Given the description of an element on the screen output the (x, y) to click on. 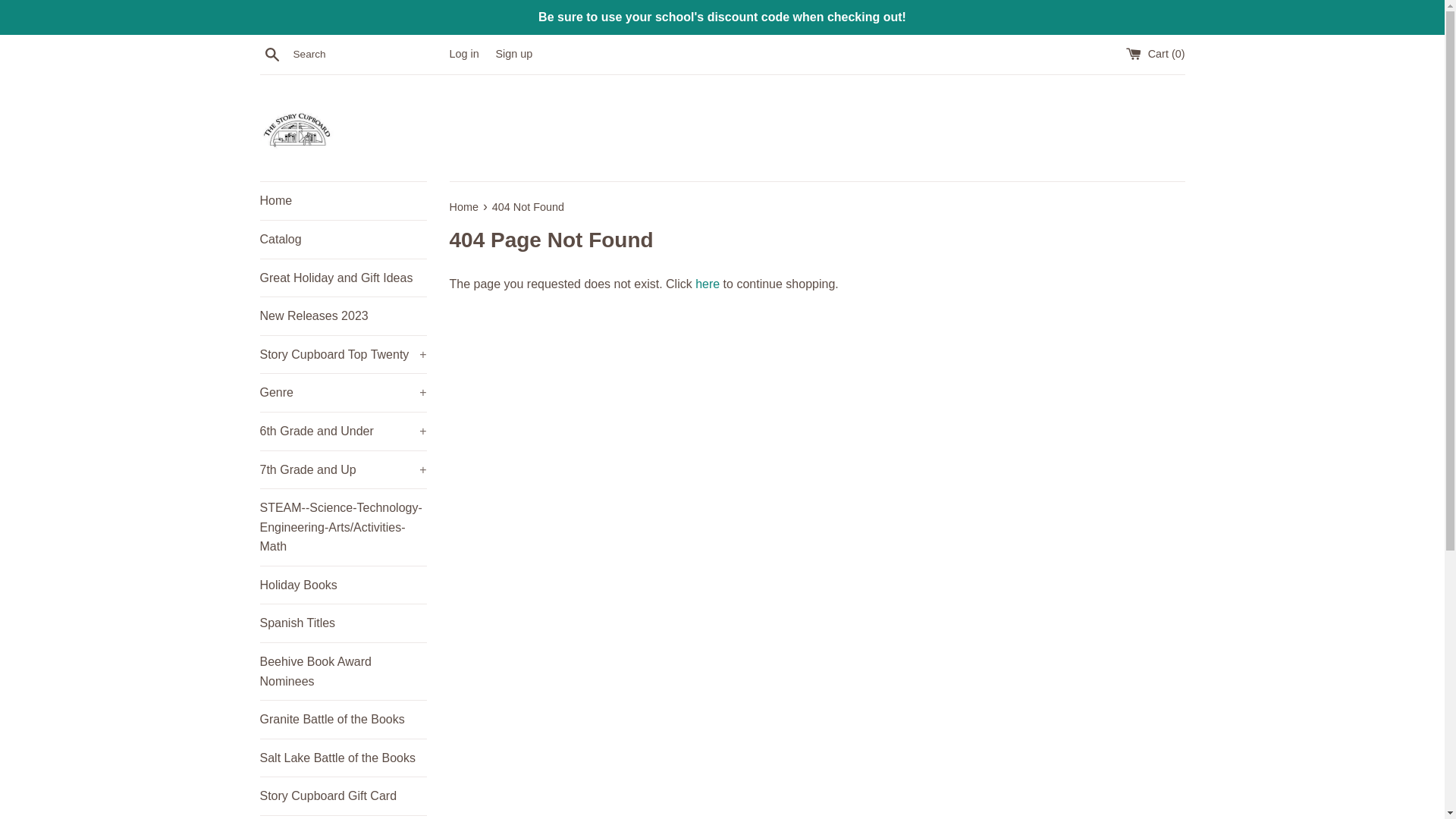
Great Holiday and Gift Ideas (342, 278)
Sign up (513, 53)
Back to the frontpage (464, 206)
New Releases 2023 (342, 315)
Log in (463, 53)
Catalog (342, 239)
Search (271, 53)
Home (342, 200)
